Given the description of an element on the screen output the (x, y) to click on. 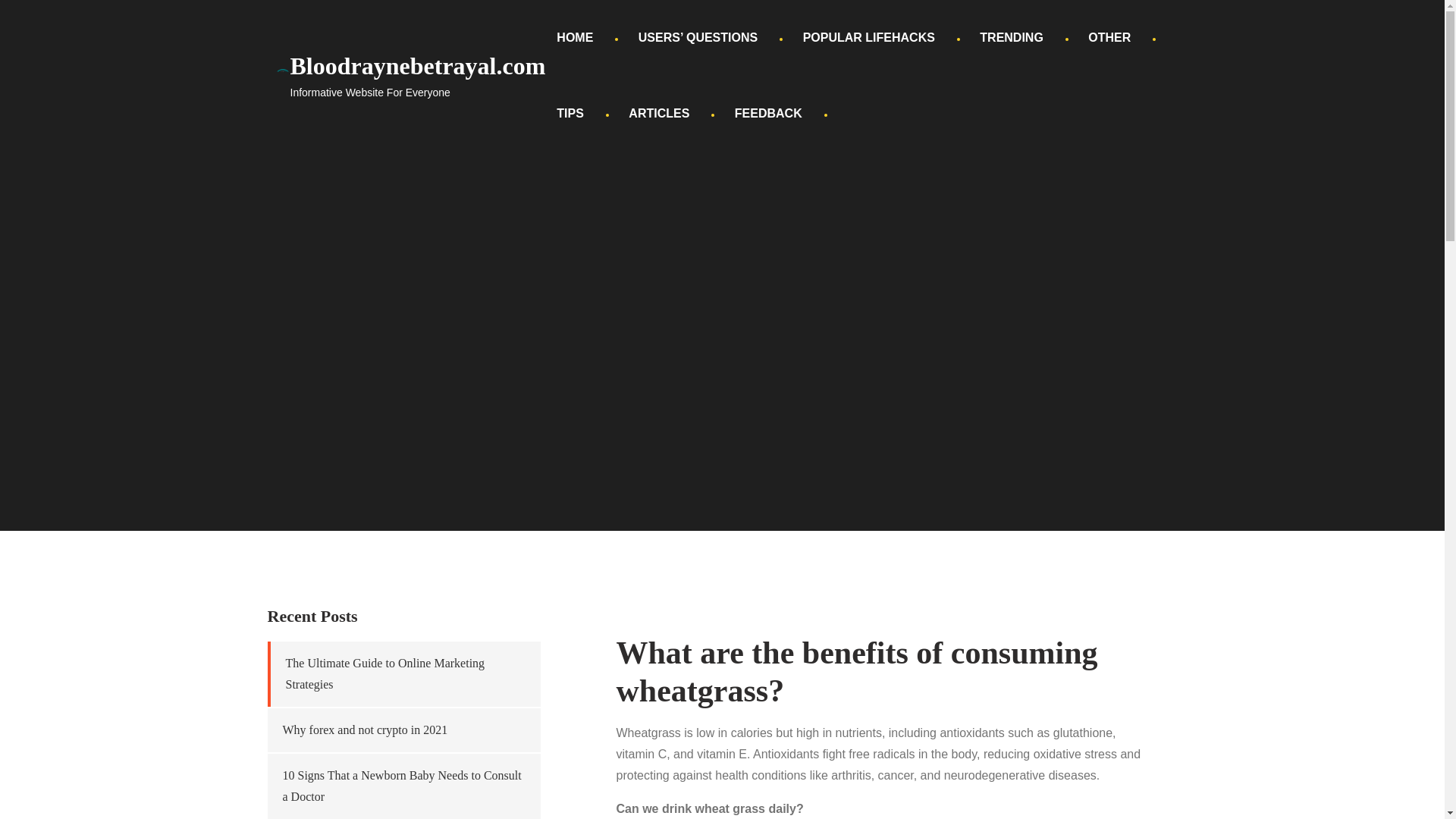
Bloodraynebetrayal.com (416, 65)
TRENDING (1011, 38)
Why forex and not crypto in 2021 (364, 729)
ARTICLES (658, 113)
10 Signs That a Newborn Baby Needs to Consult a Doctor (401, 786)
The Ultimate Guide to Online Marketing Strategies (384, 673)
FEEDBACK (768, 113)
POPULAR LIFEHACKS (869, 38)
